Given the description of an element on the screen output the (x, y) to click on. 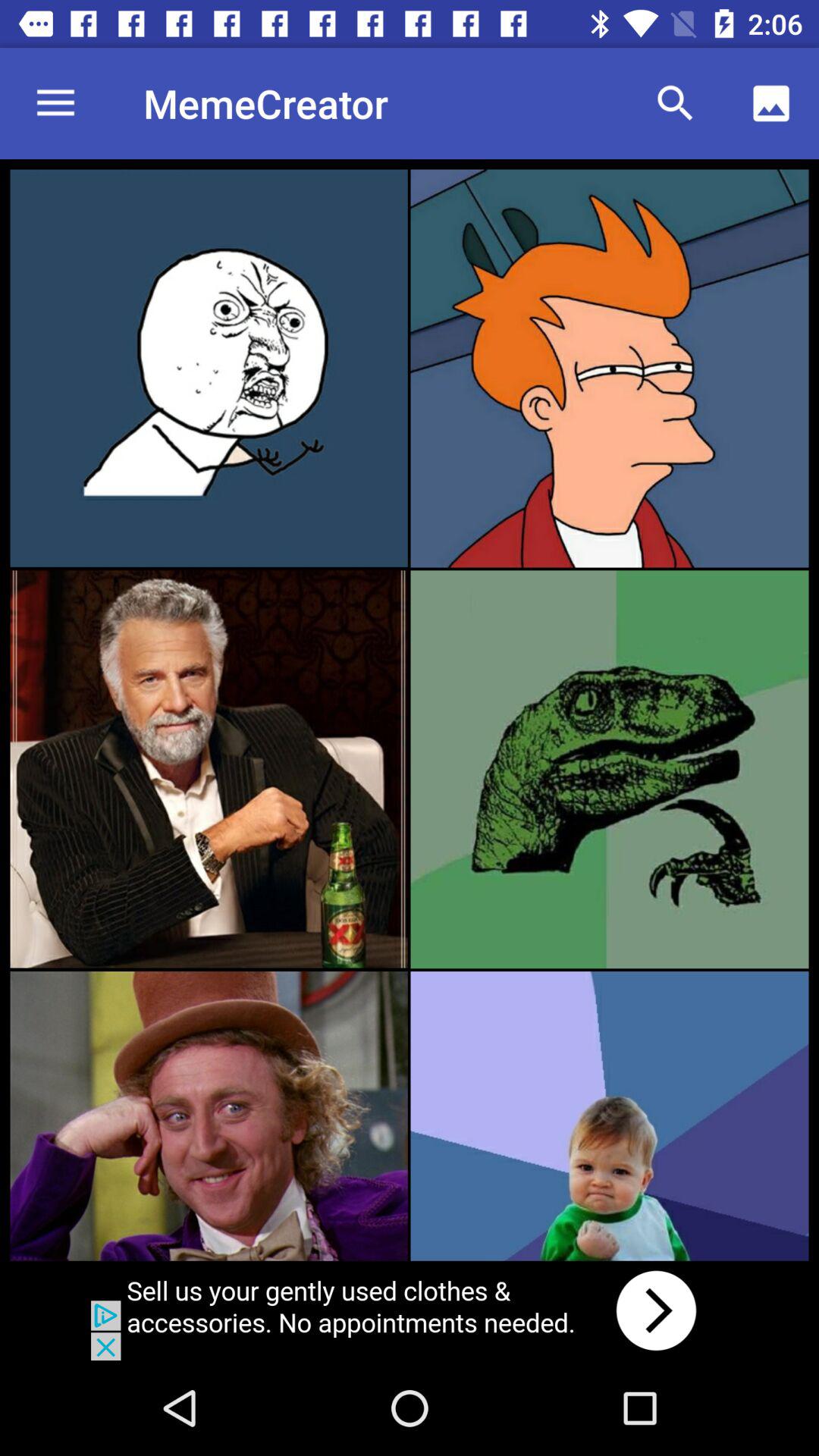
click photo to create meme from template (609, 368)
